Given the description of an element on the screen output the (x, y) to click on. 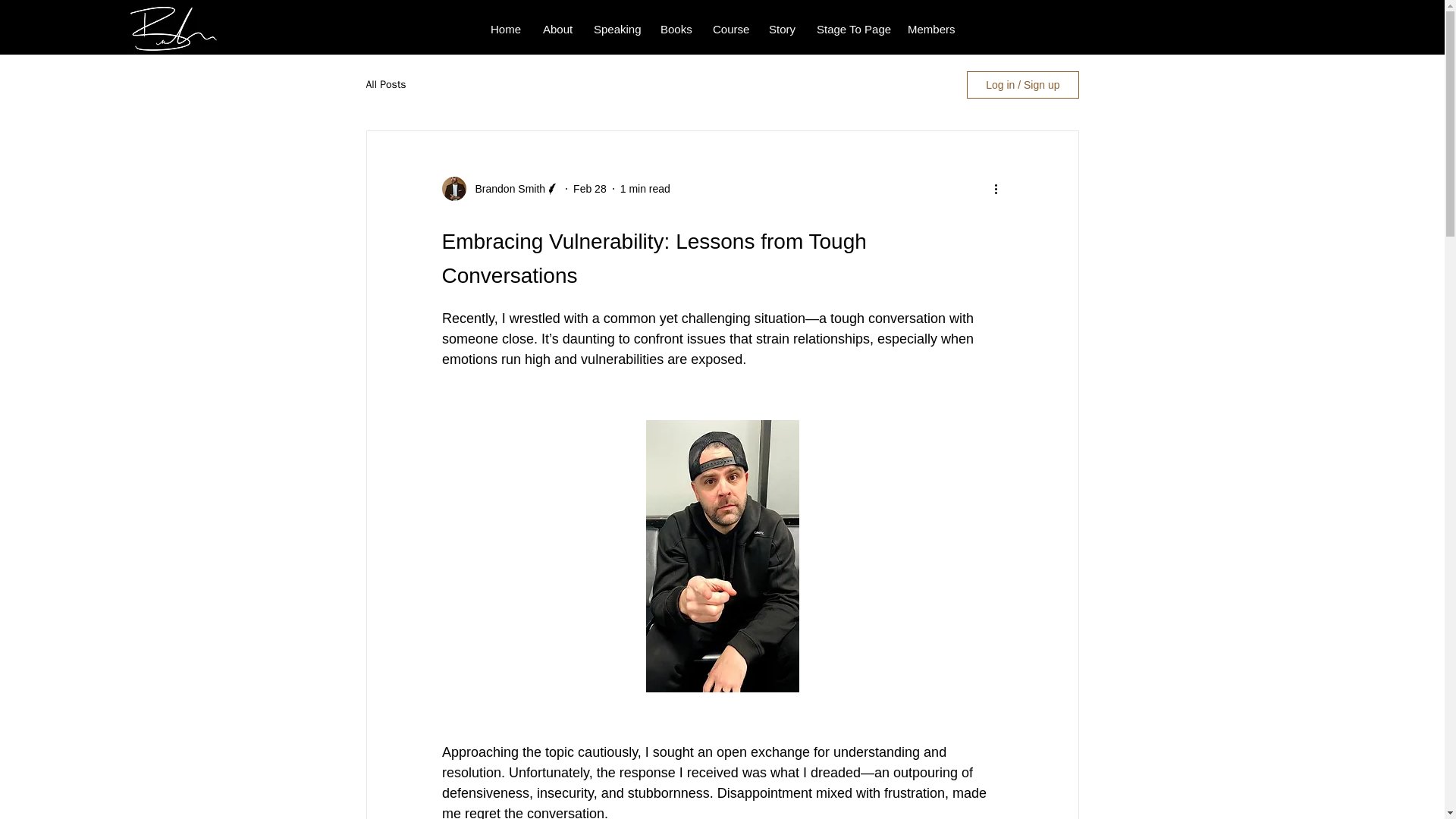
Feb 28 (590, 187)
Brandon Smith (504, 188)
Course (729, 29)
Story (781, 29)
Home (505, 29)
About (556, 29)
Speaking (615, 29)
Stage To Page (850, 29)
All Posts (385, 84)
Members (930, 29)
1 min read (644, 187)
Books (675, 29)
